Given the description of an element on the screen output the (x, y) to click on. 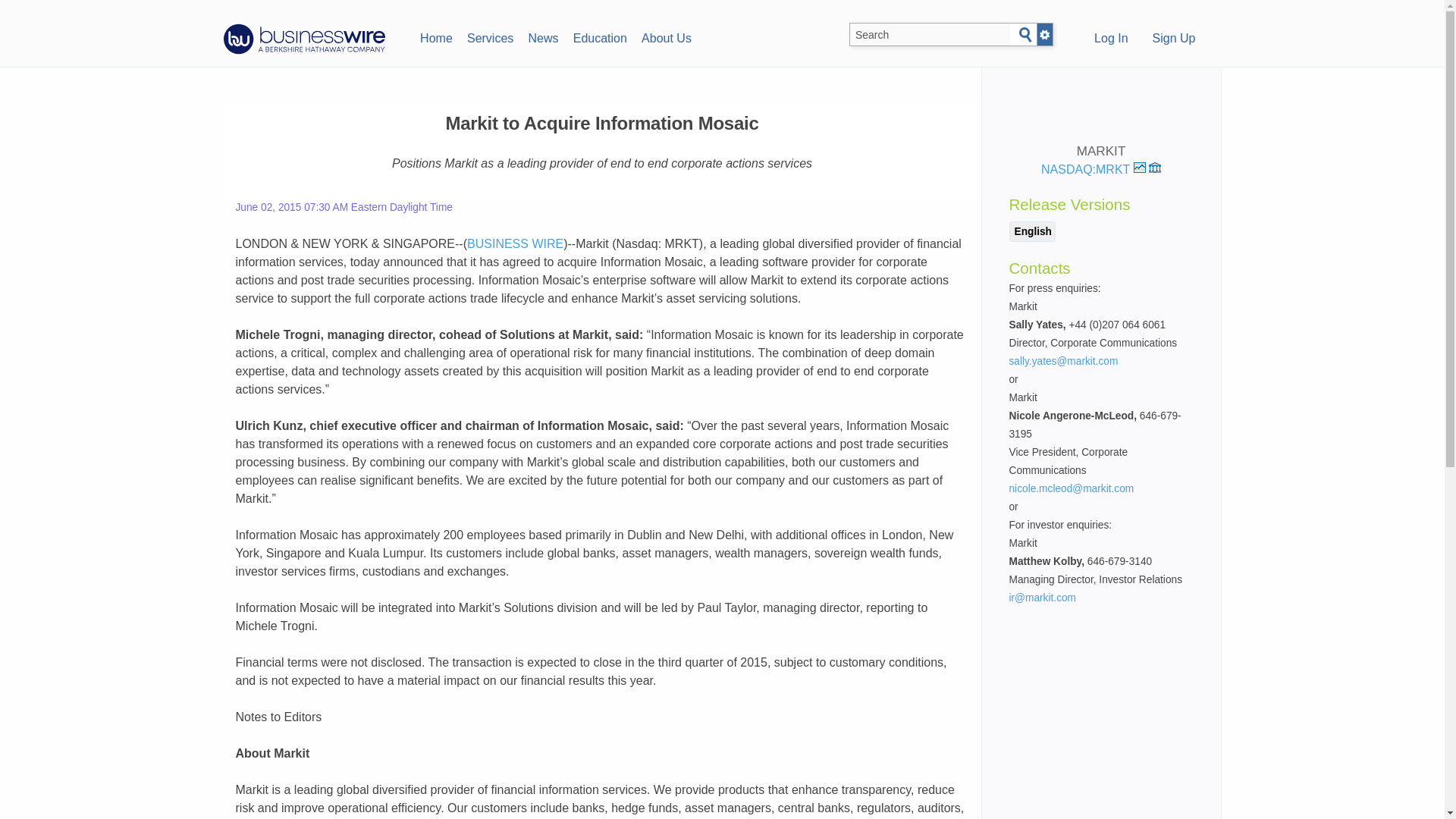
Home (436, 36)
View stock quote and chart (1139, 167)
BUSINESS WIRE (515, 243)
Services (490, 36)
View SEC Filings (1154, 167)
Search BusinessWire.com (930, 34)
About Us (665, 36)
NASDAQ:MRKT (1093, 169)
Search (1025, 34)
News (543, 36)
Education (599, 36)
